Given the description of an element on the screen output the (x, y) to click on. 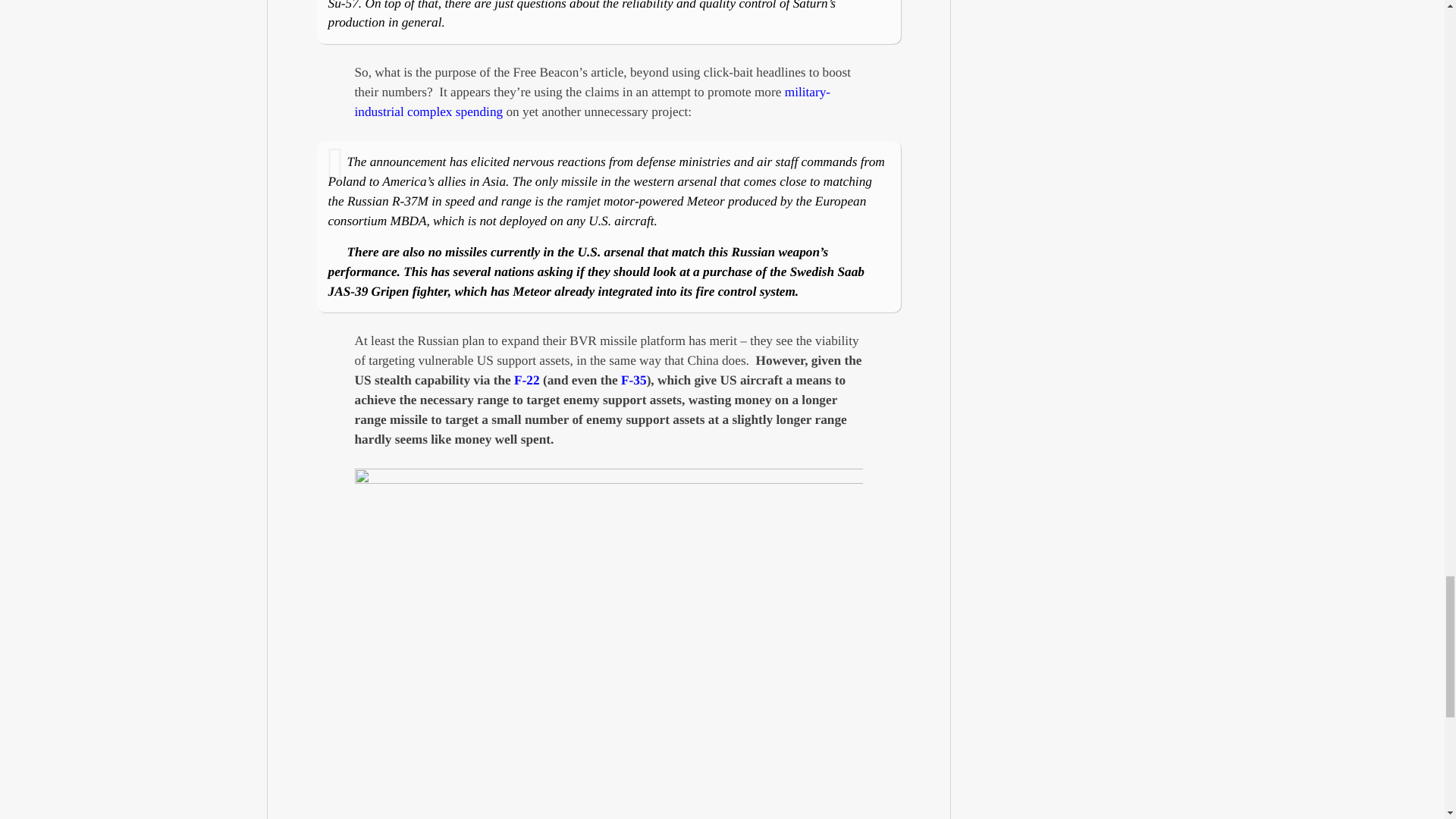
F-35 (633, 380)
military-industrial complex spending (593, 101)
F-22 (526, 380)
